Given the description of an element on the screen output the (x, y) to click on. 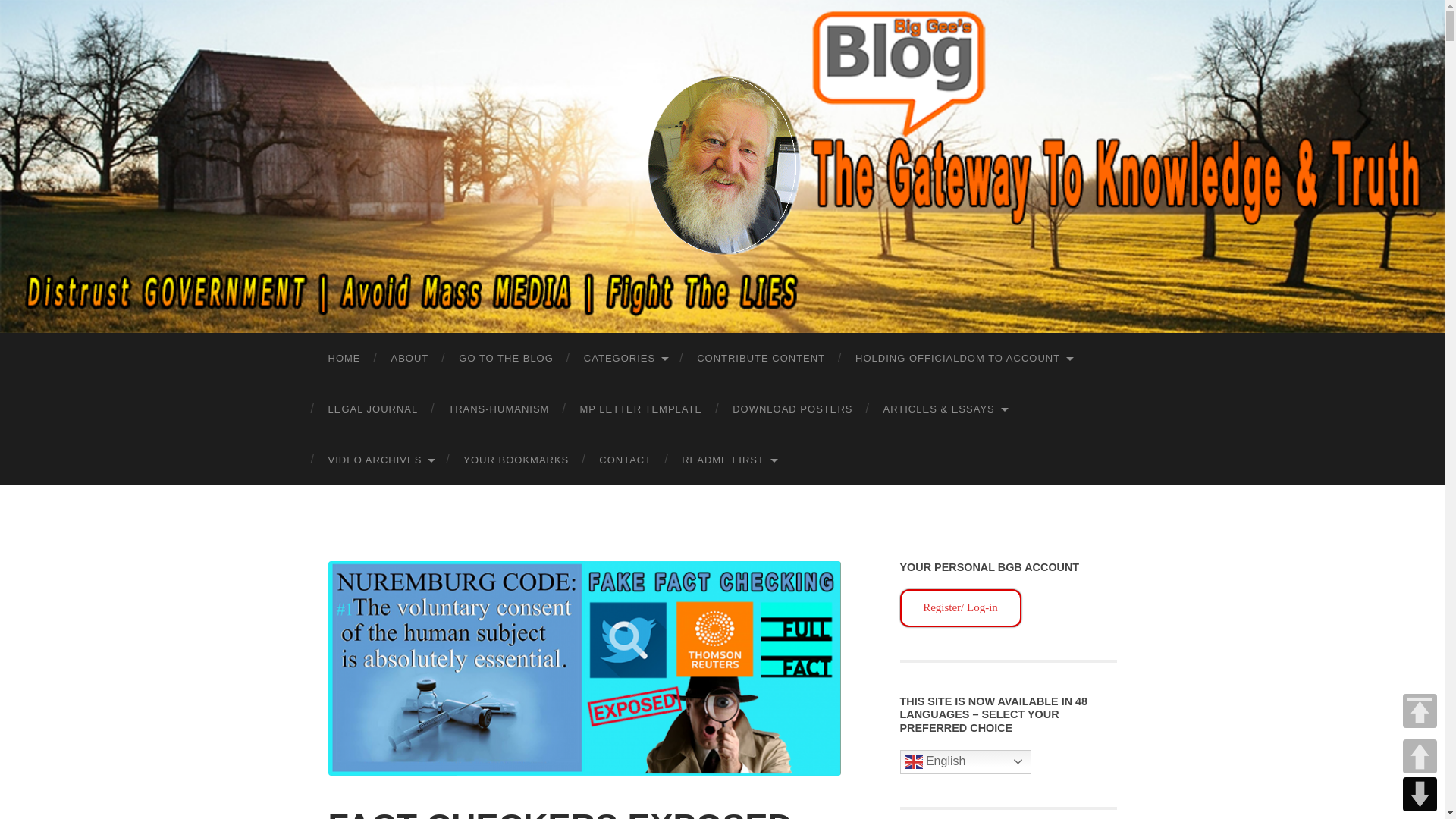
HOME (344, 358)
LEGAL JOURNAL (372, 409)
HOLDING OFFICIALDOM TO ACCOUNT (963, 358)
CONTRIBUTE CONTENT (760, 358)
CATEGORIES (625, 358)
ABOUT (409, 358)
DOWNLOAD POSTERS (792, 409)
GO TO THE BLOG (506, 358)
